Given the description of an element on the screen output the (x, y) to click on. 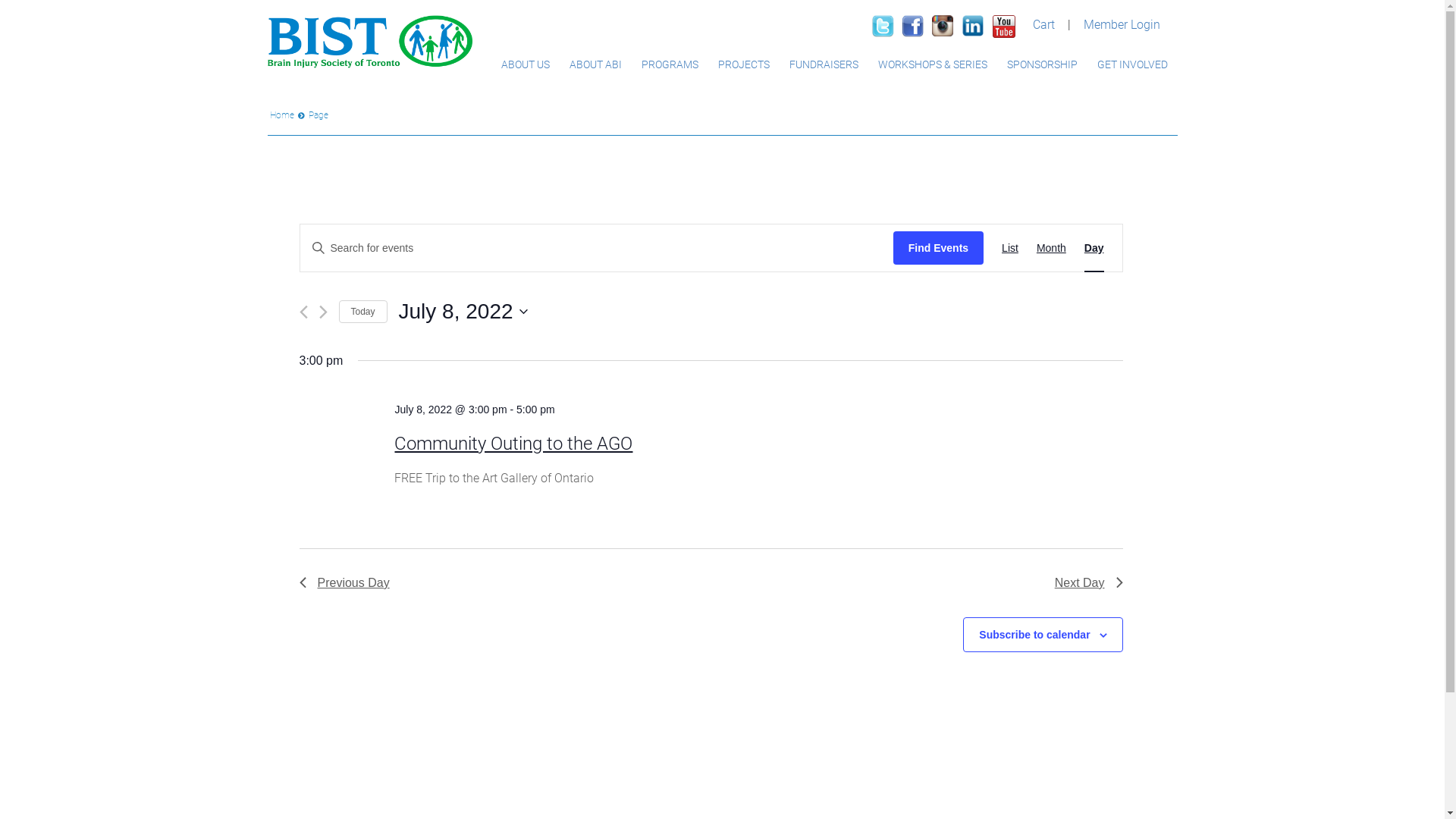
Previous Day Element type: text (343, 583)
Find Events Element type: text (938, 248)
ABOUT ABI Element type: text (595, 64)
Today Element type: text (362, 311)
Day Element type: text (1094, 248)
Month Element type: text (1051, 248)
Previous day Element type: hover (302, 311)
Home Element type: text (281, 114)
GET INVOLVED Element type: text (1132, 64)
ABOUT US Element type: text (525, 64)
PROJECTS Element type: text (743, 64)
FUNDRAISERS Element type: text (823, 64)
Cart Element type: text (1042, 24)
Community Outing to the AGO Element type: text (513, 444)
Next day Element type: hover (322, 311)
SPONSORSHIP Element type: text (1041, 64)
List Element type: text (1009, 248)
WORKSHOPS & SERIES Element type: text (931, 64)
PROGRAMS Element type: text (668, 64)
Next Day Element type: text (1088, 583)
Member Login Element type: text (1121, 24)
Subscribe to calendar Element type: text (1034, 634)
July 8, 2022 Element type: text (462, 311)
